Given the description of an element on the screen output the (x, y) to click on. 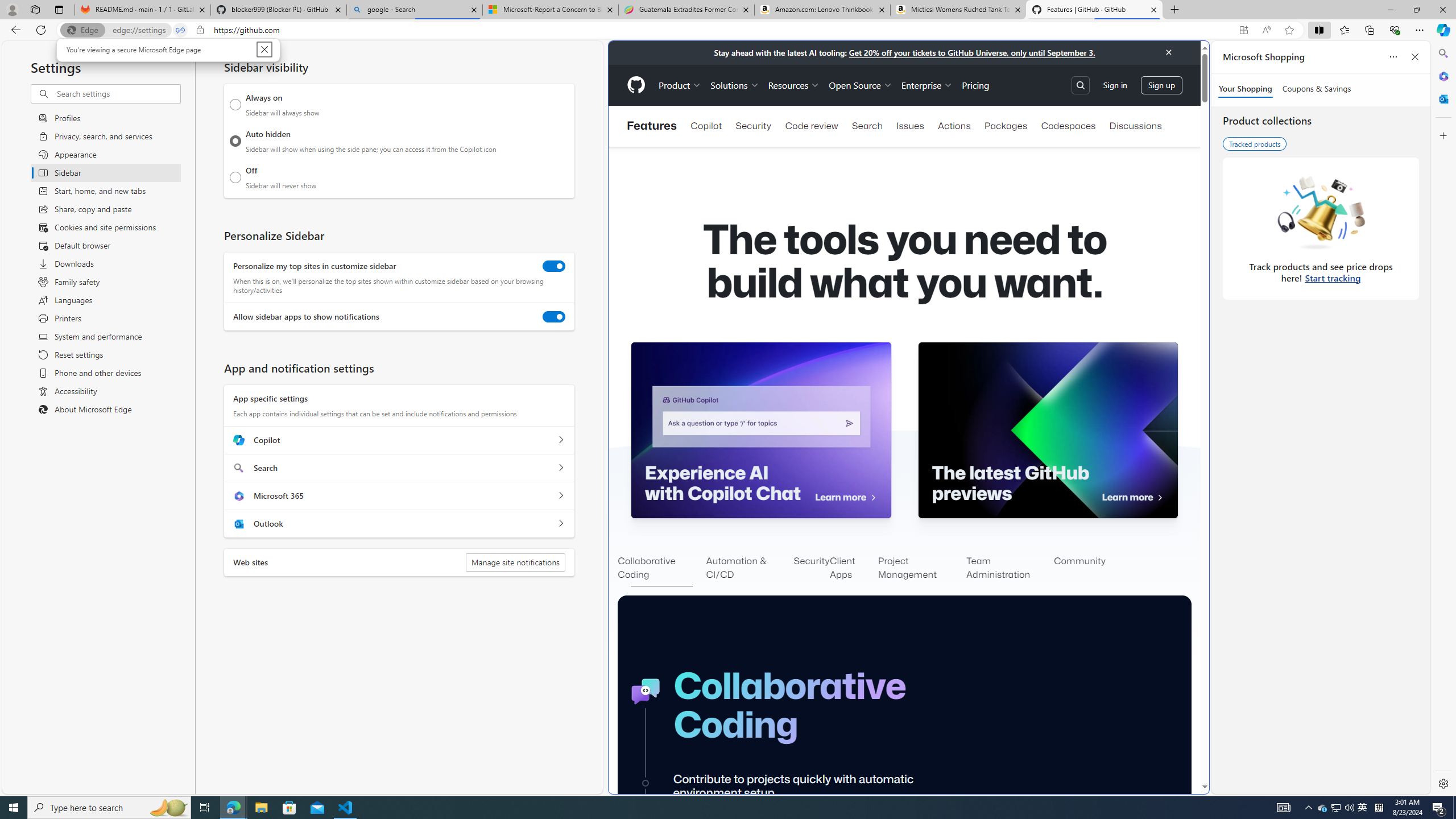
Off Sidebar will never show (235, 177)
Workspaces (34, 9)
Notification Chevron (1308, 807)
Manage site notifications (514, 562)
Search highlights icon opens search home window (167, 807)
AutomationID: 4105 (1283, 807)
Tray Input Indicator - Chinese (Simplified, China) (1378, 807)
Enterprise (927, 84)
Features (651, 125)
Sign in (1115, 84)
Product (679, 84)
Copilot (560, 439)
